Given the description of an element on the screen output the (x, y) to click on. 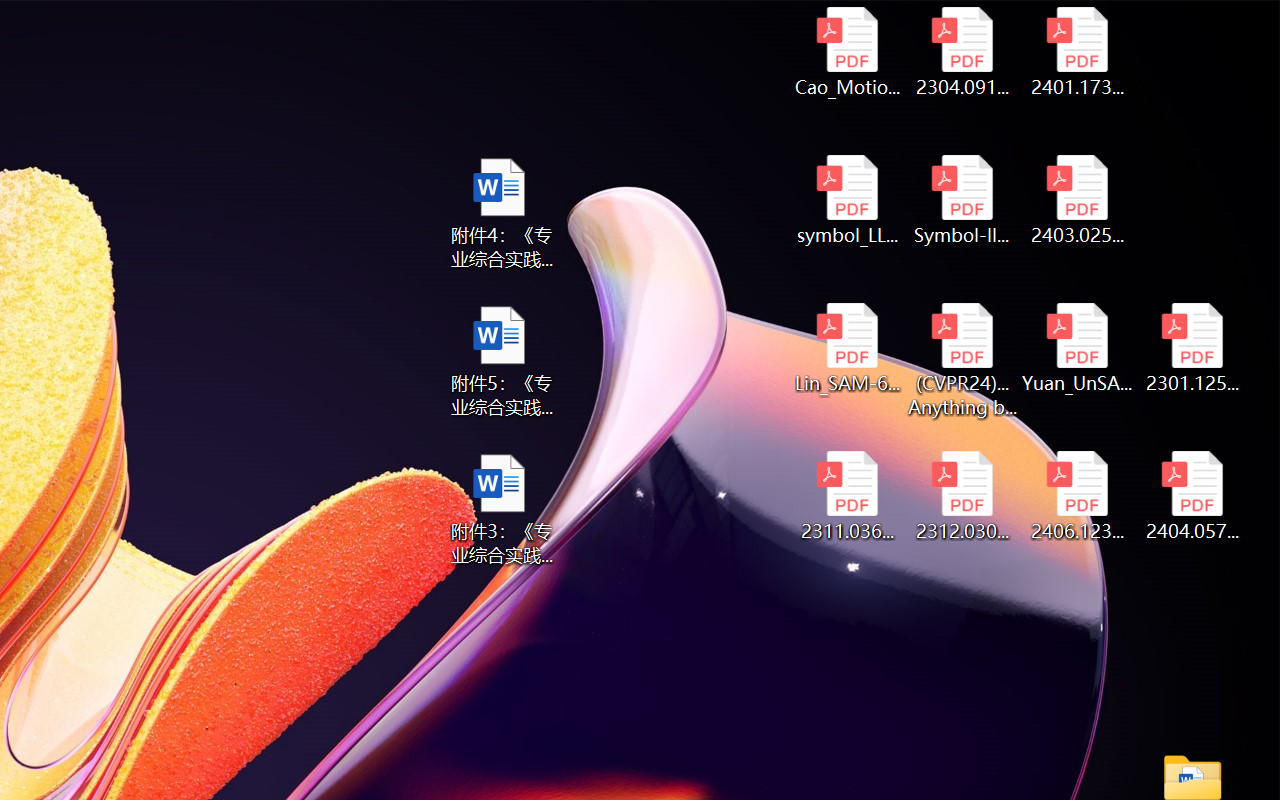
2401.17399v1.pdf (1077, 52)
